Given the description of an element on the screen output the (x, y) to click on. 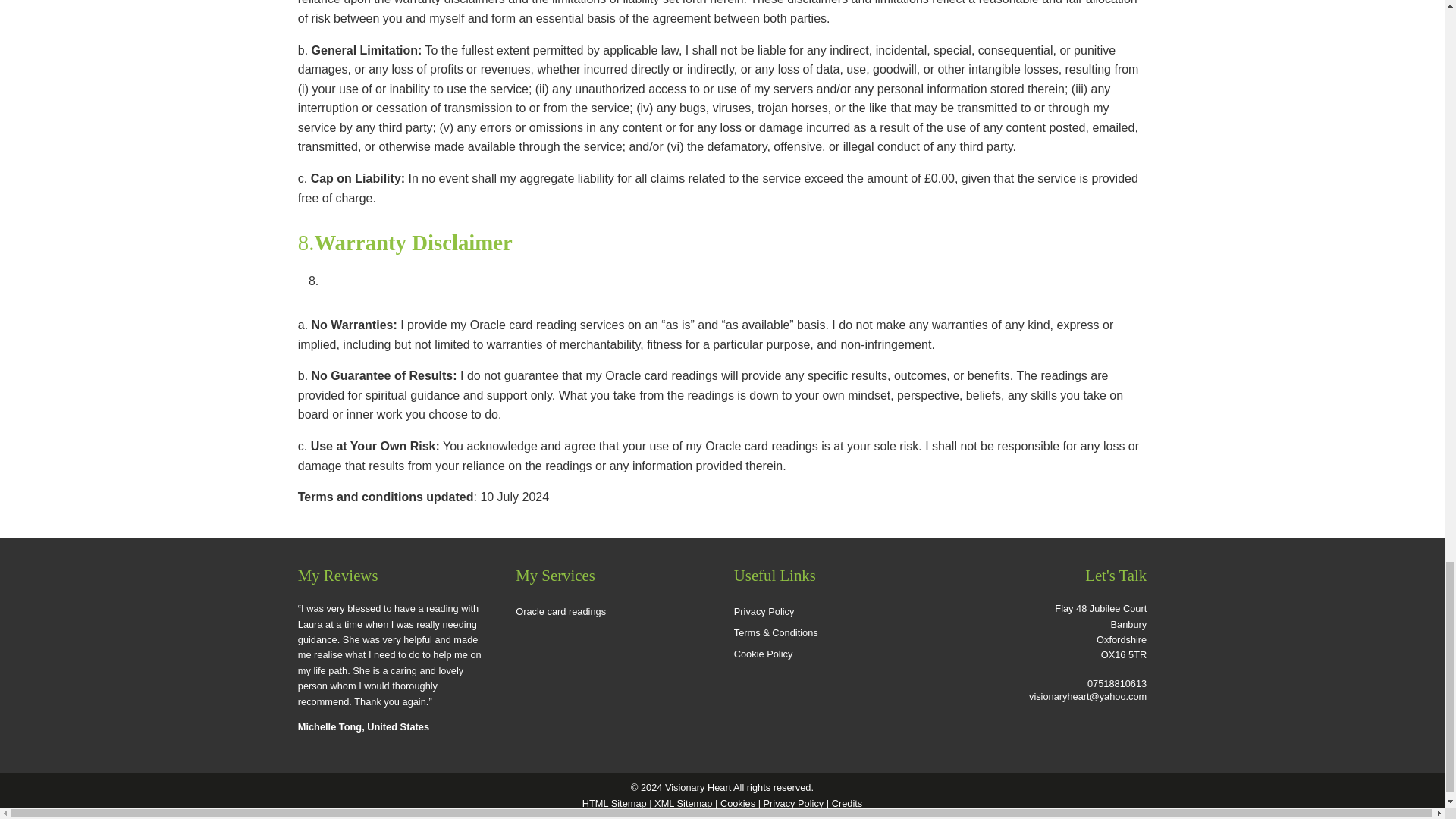
Cookies (737, 803)
Credits (847, 803)
Cookie Policy (830, 654)
XML Sitemap (682, 803)
HTML Sitemap (614, 803)
Privacy Policy (793, 803)
Oracle card readings (612, 611)
Privacy Policy (830, 611)
